Given the description of an element on the screen output the (x, y) to click on. 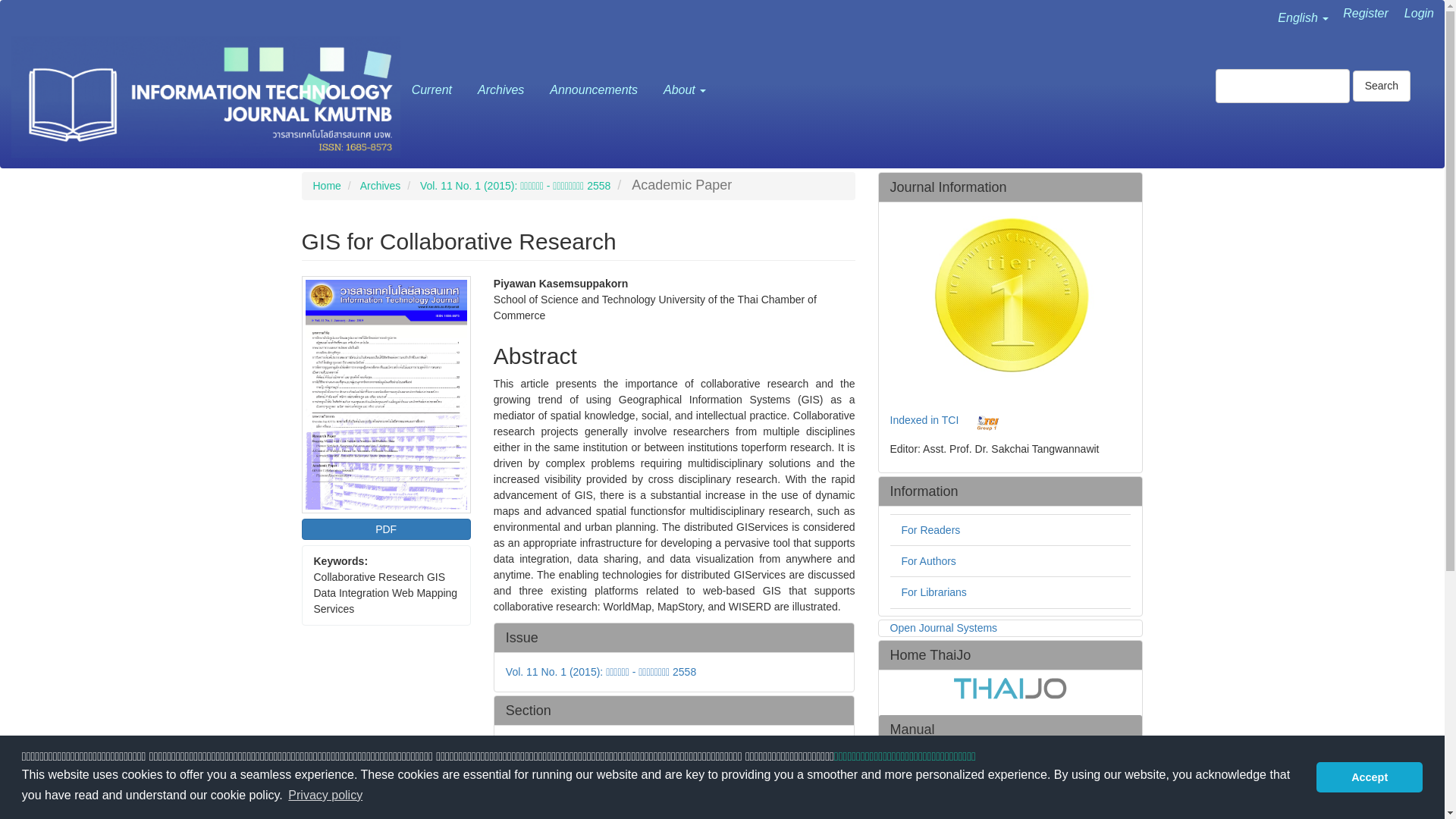
PDF (385, 528)
Announcements (606, 57)
Archives (513, 57)
Search (1381, 85)
For Author (925, 767)
For Readers (930, 530)
Indexed in TCI (924, 419)
Privacy policy (325, 794)
For Authors (928, 561)
Current (444, 57)
Home (326, 185)
About (697, 57)
Open Journal Systems (943, 627)
For Librarians (933, 592)
Archives (380, 185)
